Given the description of an element on the screen output the (x, y) to click on. 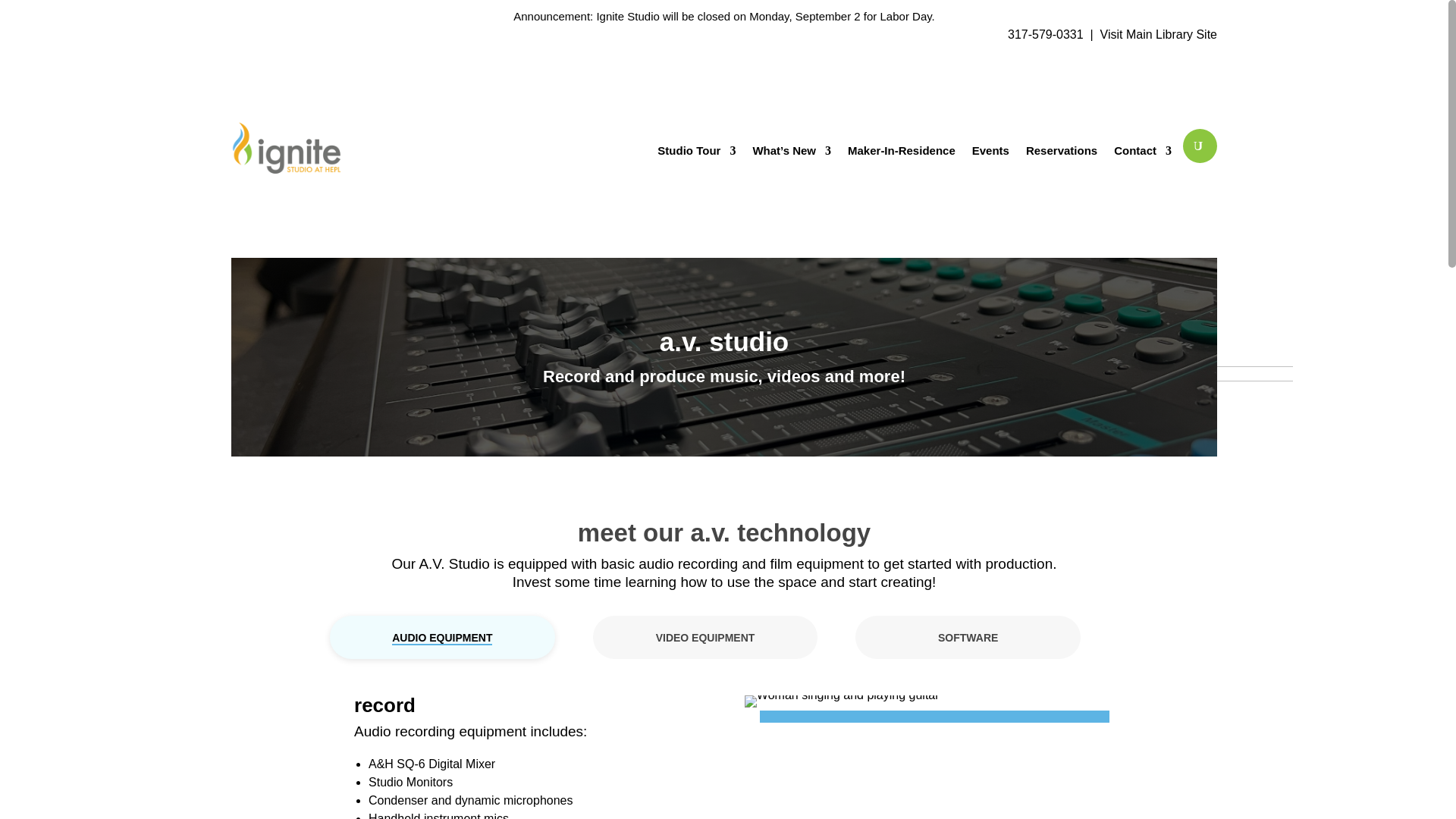
Group 39845 (1213, 442)
317-579-0331 (1045, 33)
VIDEO EQUIPMENT (705, 637)
Studio Tour (696, 150)
Maker-In-Residence (901, 150)
SOFTWARE (967, 637)
Visit Main Library Site (1158, 33)
Reservations (1061, 150)
AUDIO EQUIPMENT (441, 638)
